Given the description of an element on the screen output the (x, y) to click on. 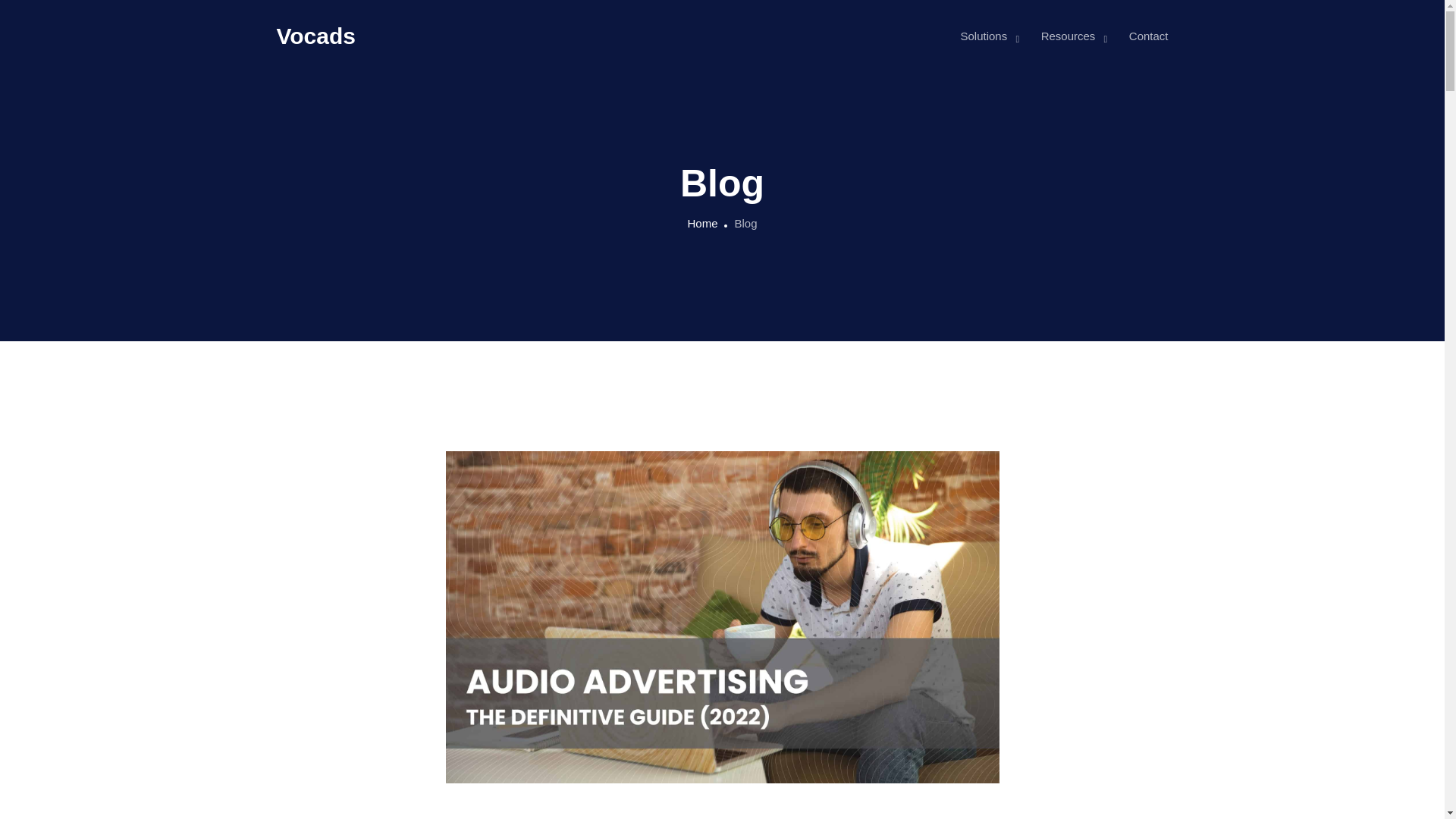
Contact (1149, 35)
Home (702, 223)
Solutions (983, 35)
Resources (1068, 35)
Vocads (315, 35)
Resources (1068, 35)
Contact (1149, 35)
Solutions (983, 35)
